Given the description of an element on the screen output the (x, y) to click on. 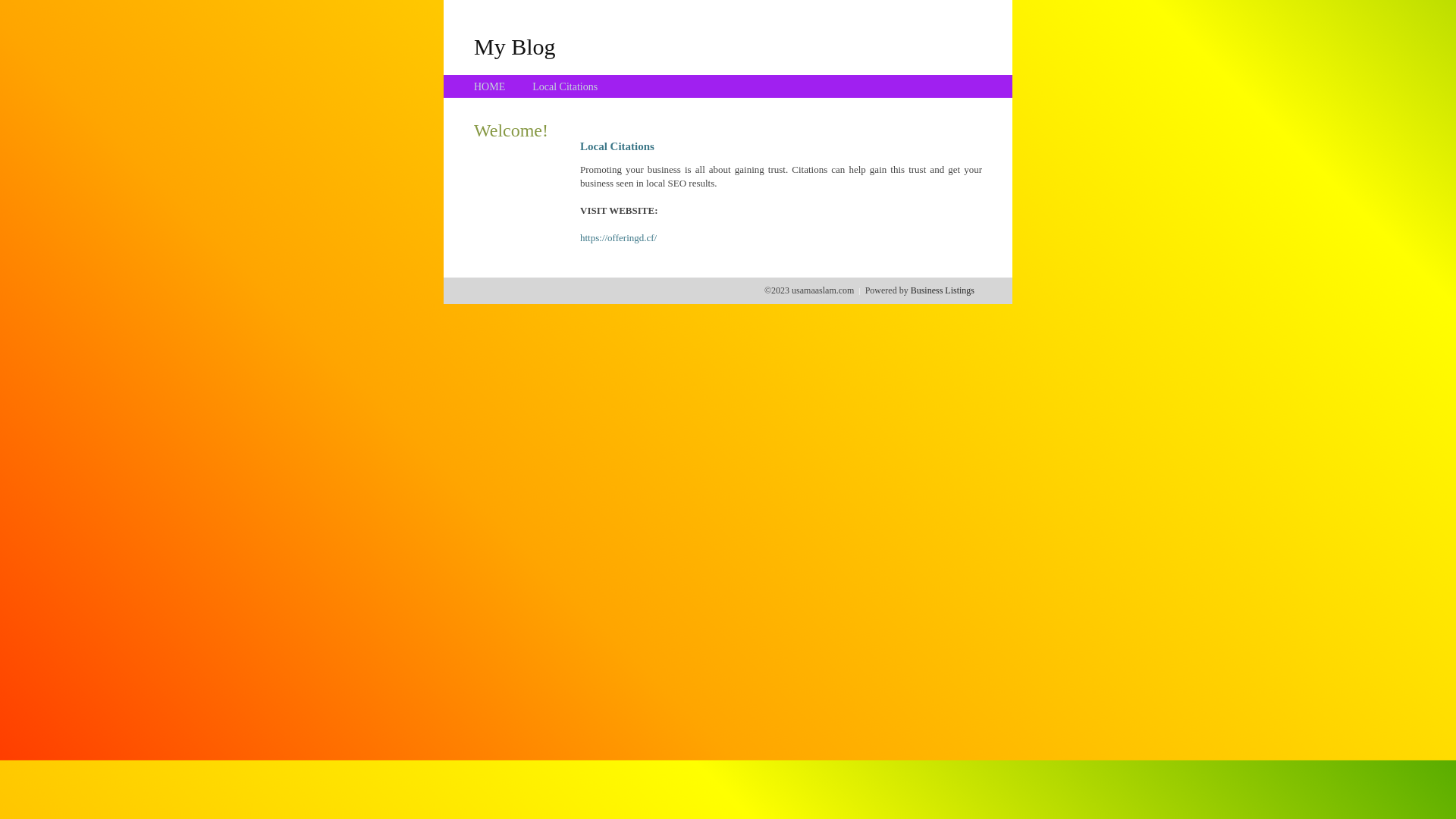
Local Citations Element type: text (564, 86)
My Blog Element type: text (514, 46)
Business Listings Element type: text (942, 290)
HOME Element type: text (489, 86)
https://offeringd.cf/ Element type: text (618, 237)
